Given the description of an element on the screen output the (x, y) to click on. 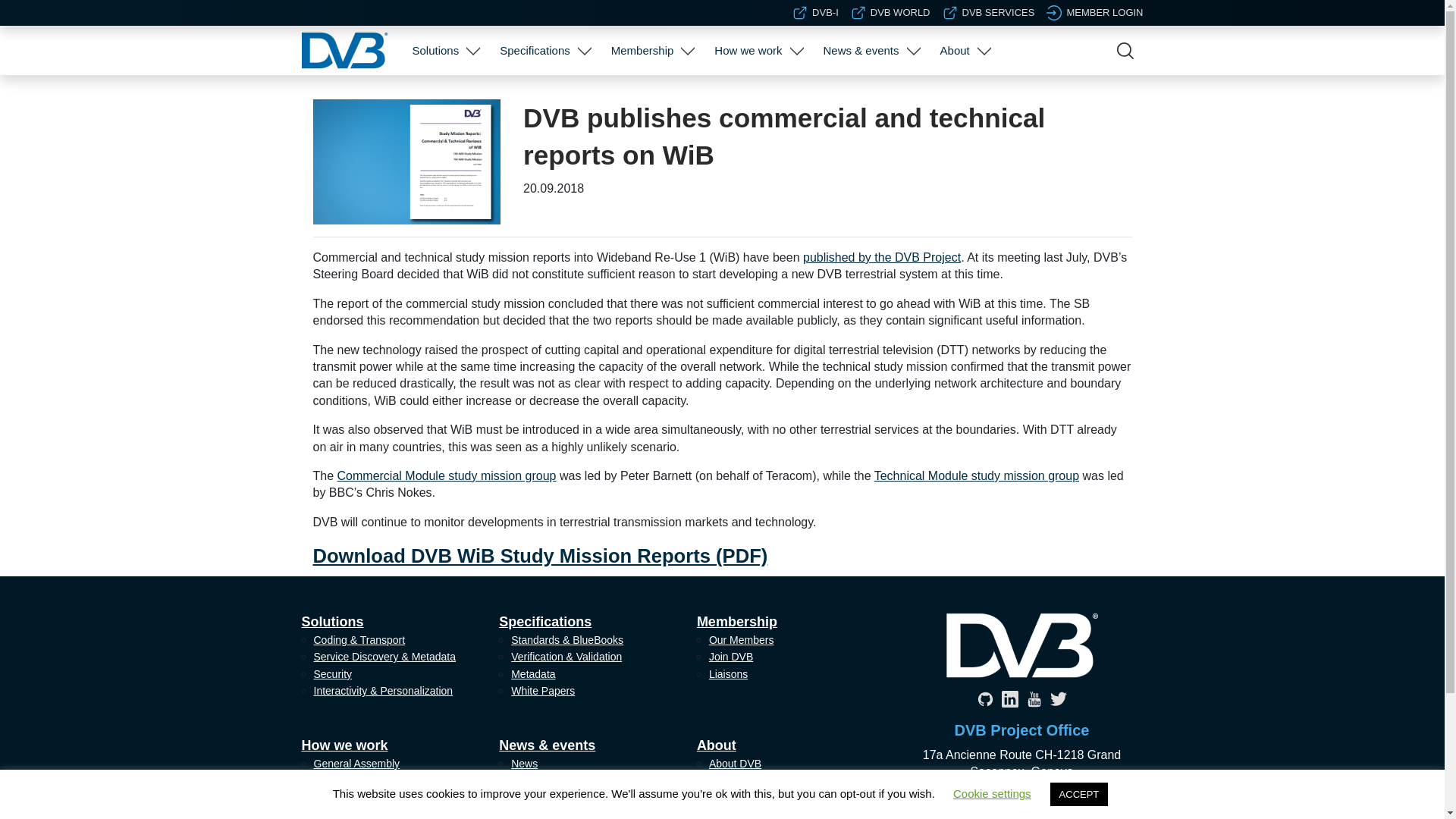
General Assembly (756, 95)
DVB SERVICES (988, 12)
DVB WORLD (890, 12)
MEMBER LOGIN (1094, 12)
About DVB (962, 95)
LinkedIn Profile (1009, 698)
Github Profile (984, 698)
Solutions (435, 50)
YouTube Profile (1033, 698)
DVB-I (815, 12)
Twitter Profile (1057, 698)
News (869, 95)
Our Members (650, 95)
Membership (642, 50)
Specifications (534, 50)
